Given the description of an element on the screen output the (x, y) to click on. 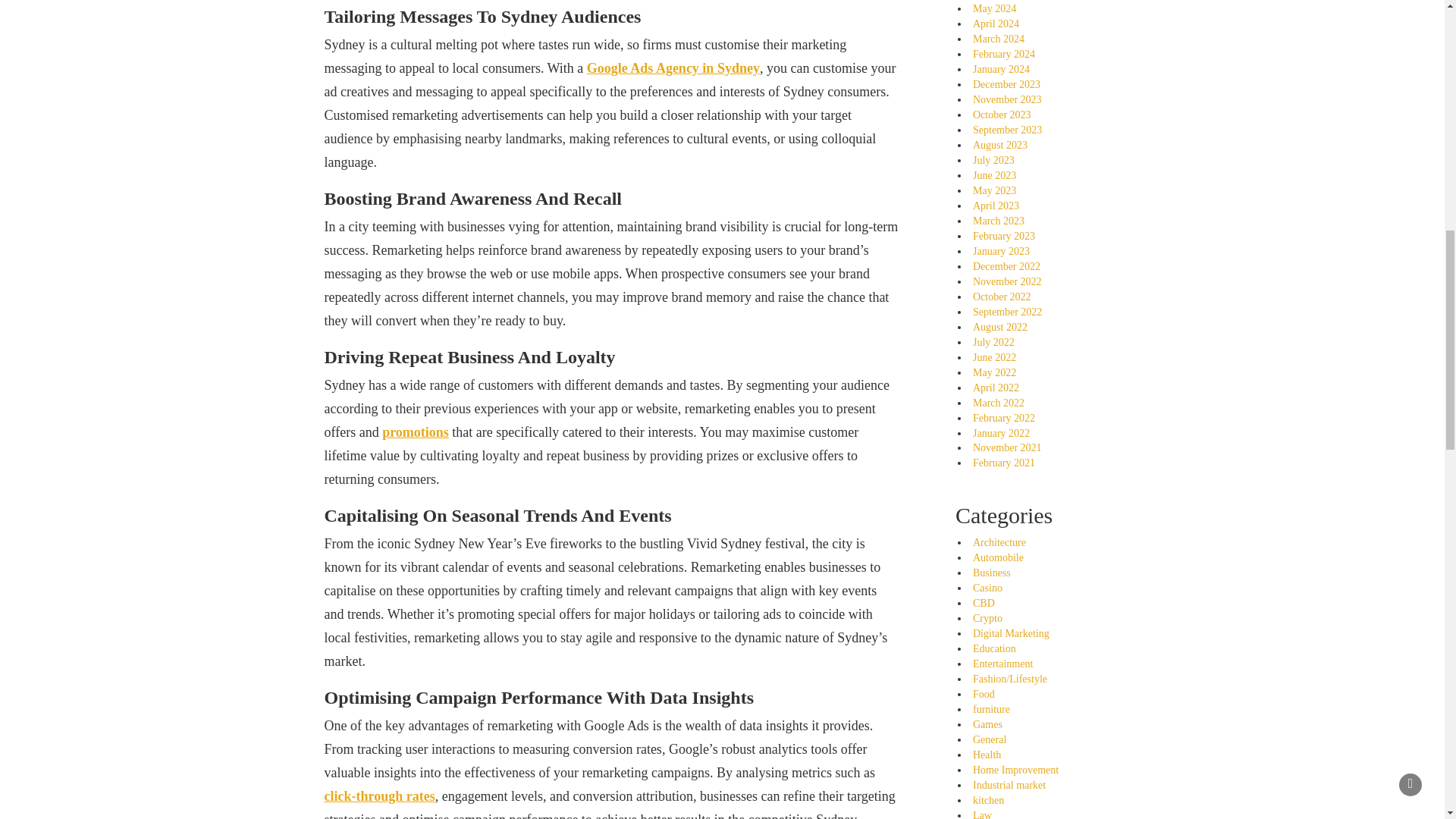
May 2024 (994, 8)
March 2024 (998, 39)
click-through rates (379, 795)
April 2024 (995, 23)
promotions (414, 432)
Google Ads Agency in Sydney (673, 68)
